Given the description of an element on the screen output the (x, y) to click on. 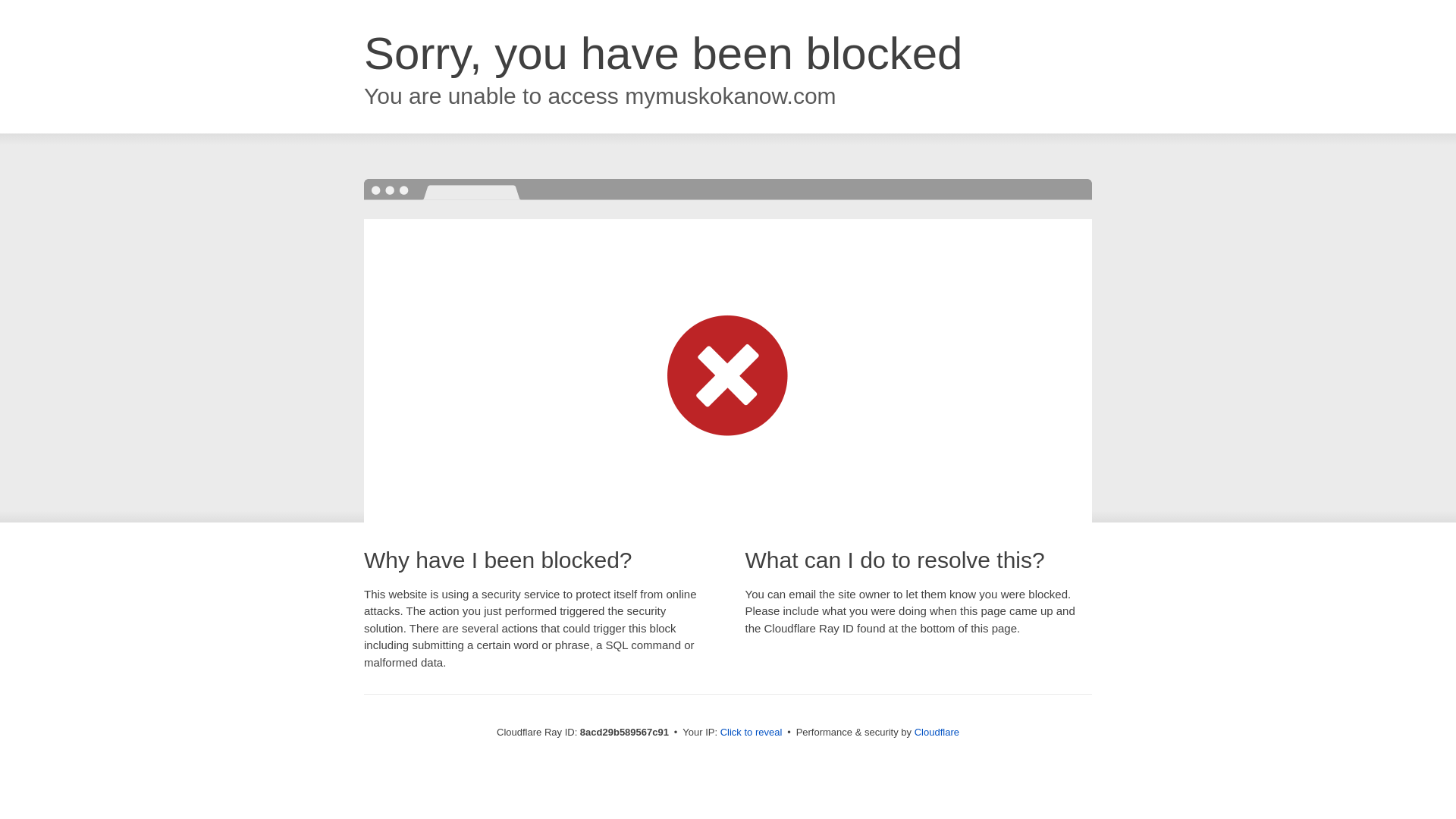
Cloudflare (936, 731)
Click to reveal (751, 732)
